Given the description of an element on the screen output the (x, y) to click on. 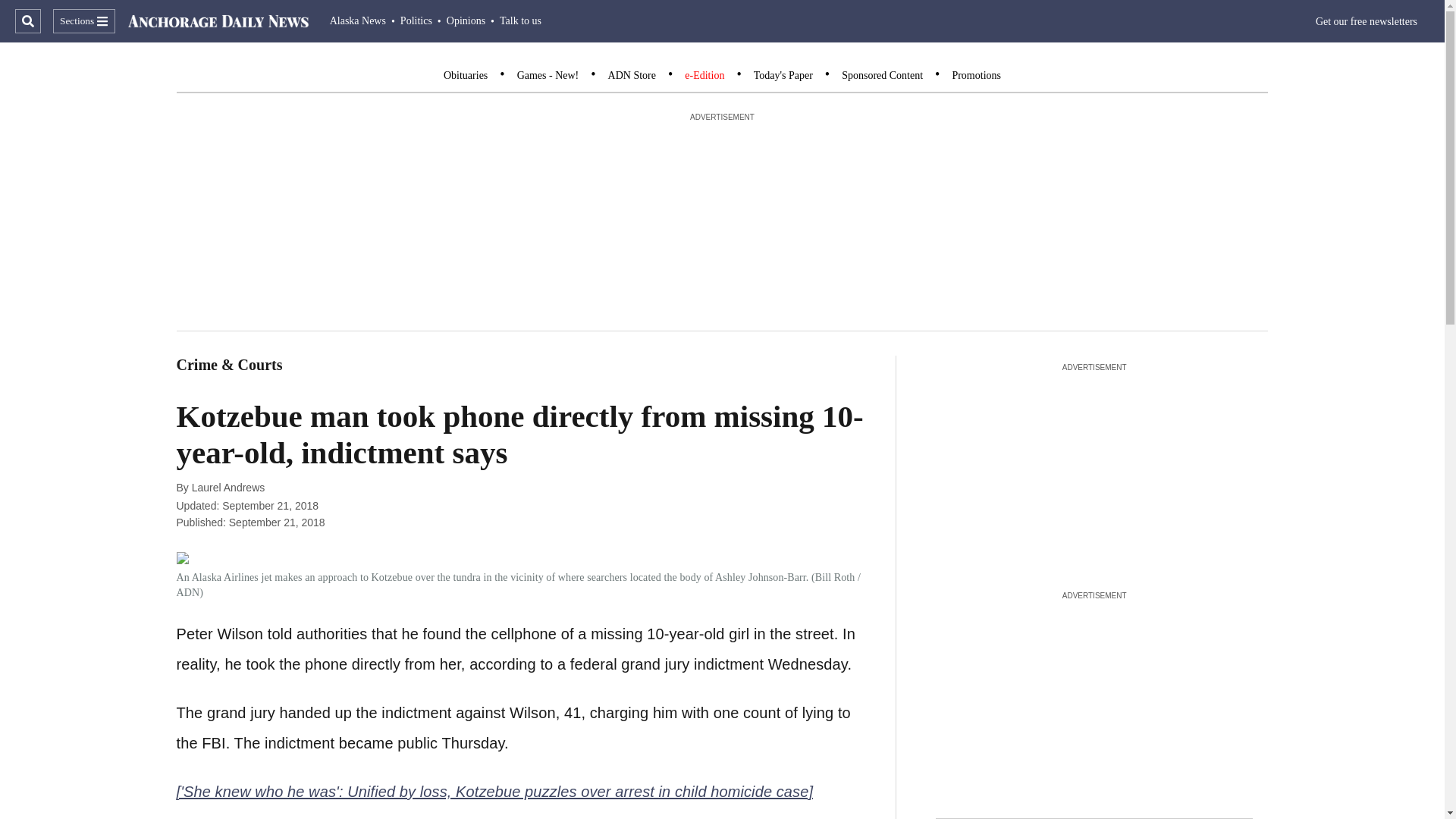
Sections (83, 21)
Get our free newsletters (1366, 21)
Politics (416, 20)
Alaska News (357, 20)
Opinions (465, 20)
ADN Logo (218, 20)
